Given the description of an element on the screen output the (x, y) to click on. 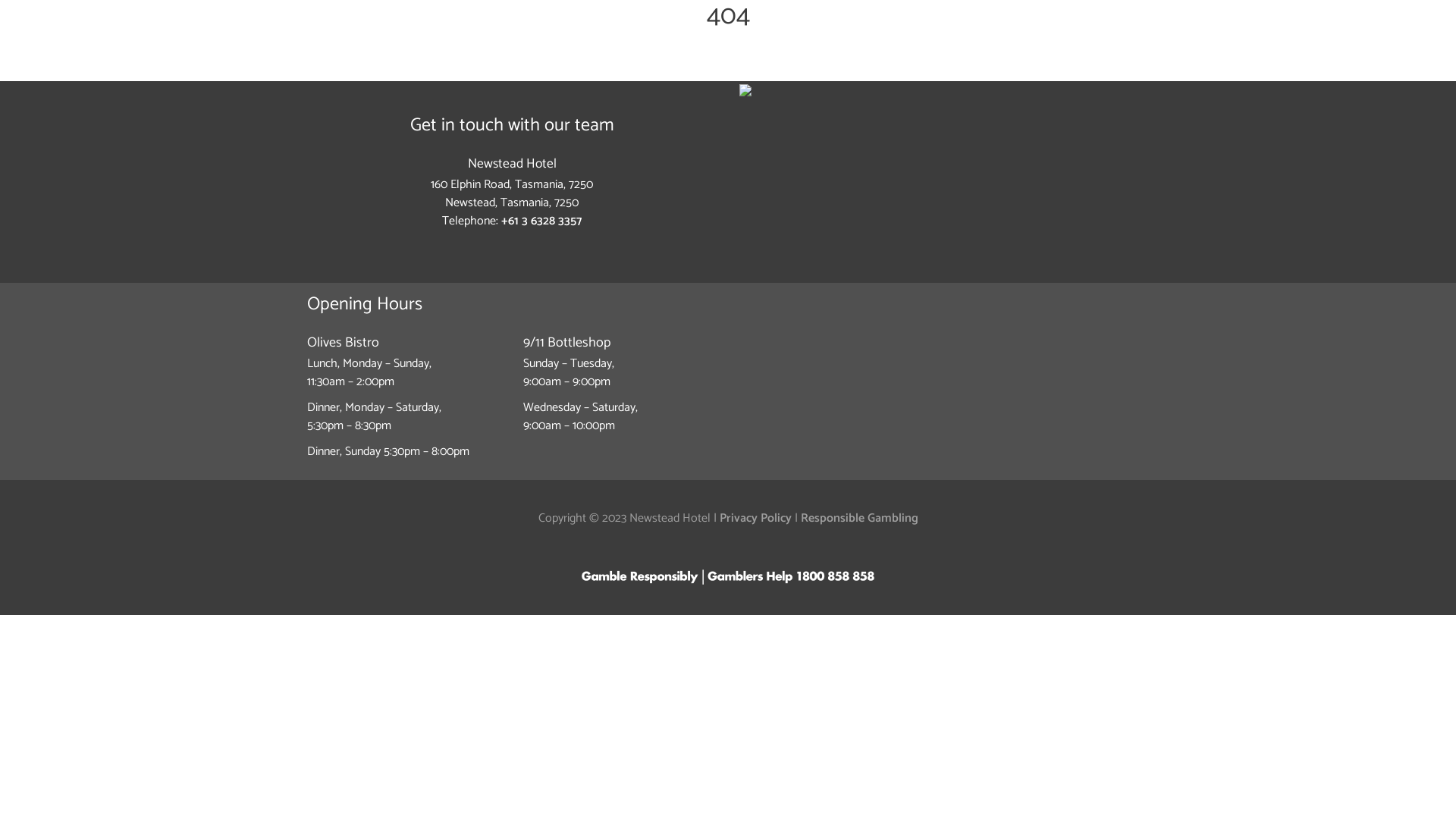
Privacy Policy Element type: text (754, 518)
Google Maps Element type: hover (943, 90)
+61 3 6328 3357 Element type: text (541, 220)
Responsible Gambling Element type: text (859, 518)
Facebook Element type: hover (500, 246)
Facebook Messenger Element type: hover (522, 246)
